Given the description of an element on the screen output the (x, y) to click on. 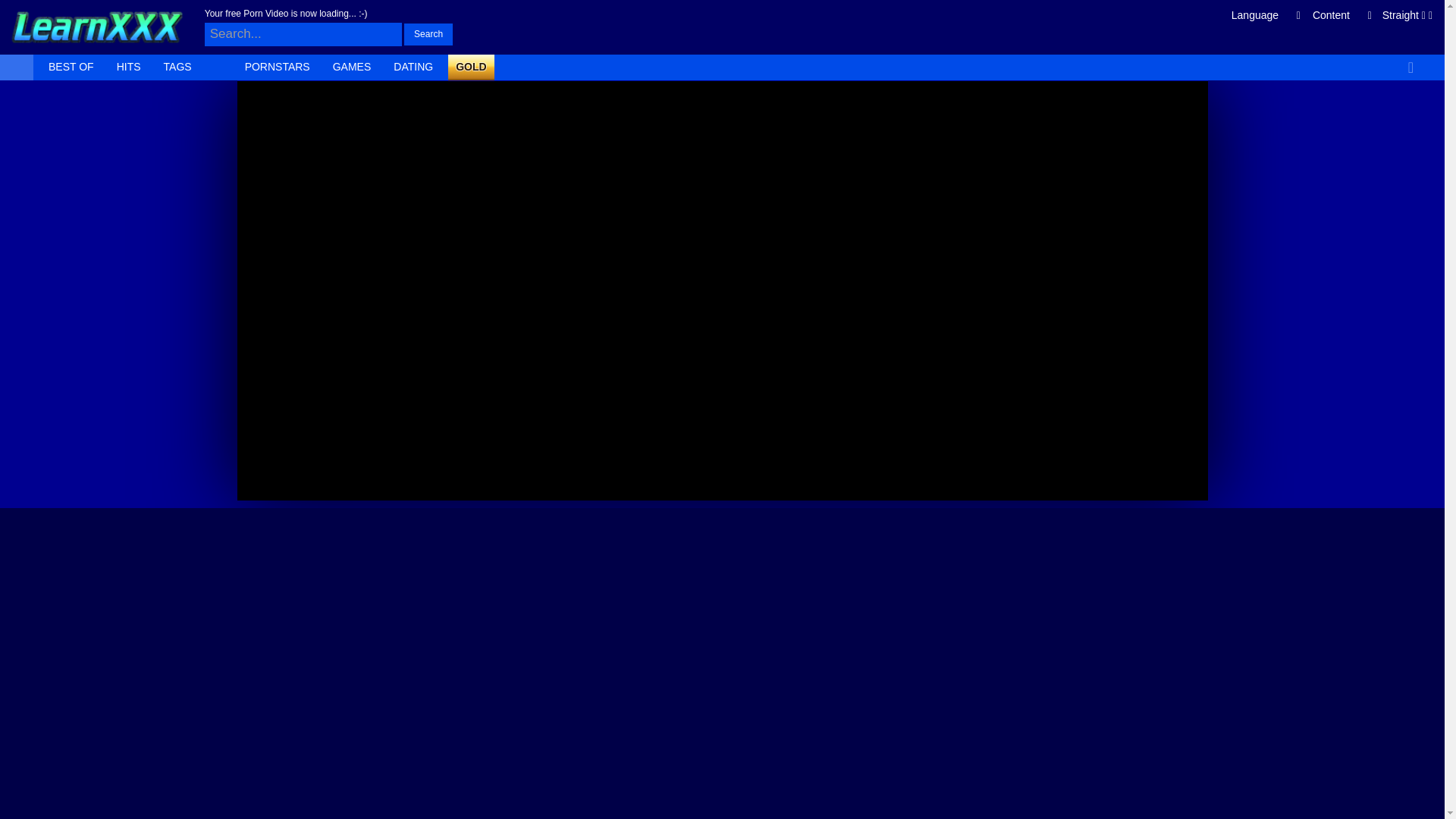
BEST OF (70, 67)
Language (1265, 16)
Search (428, 34)
GOLD (470, 67)
GAMES (351, 67)
ALL SEX VIDEOS (16, 67)
DATING (413, 67)
Straight (1406, 16)
HITS (128, 67)
PORNSTARS (277, 67)
